Given the description of an element on the screen output the (x, y) to click on. 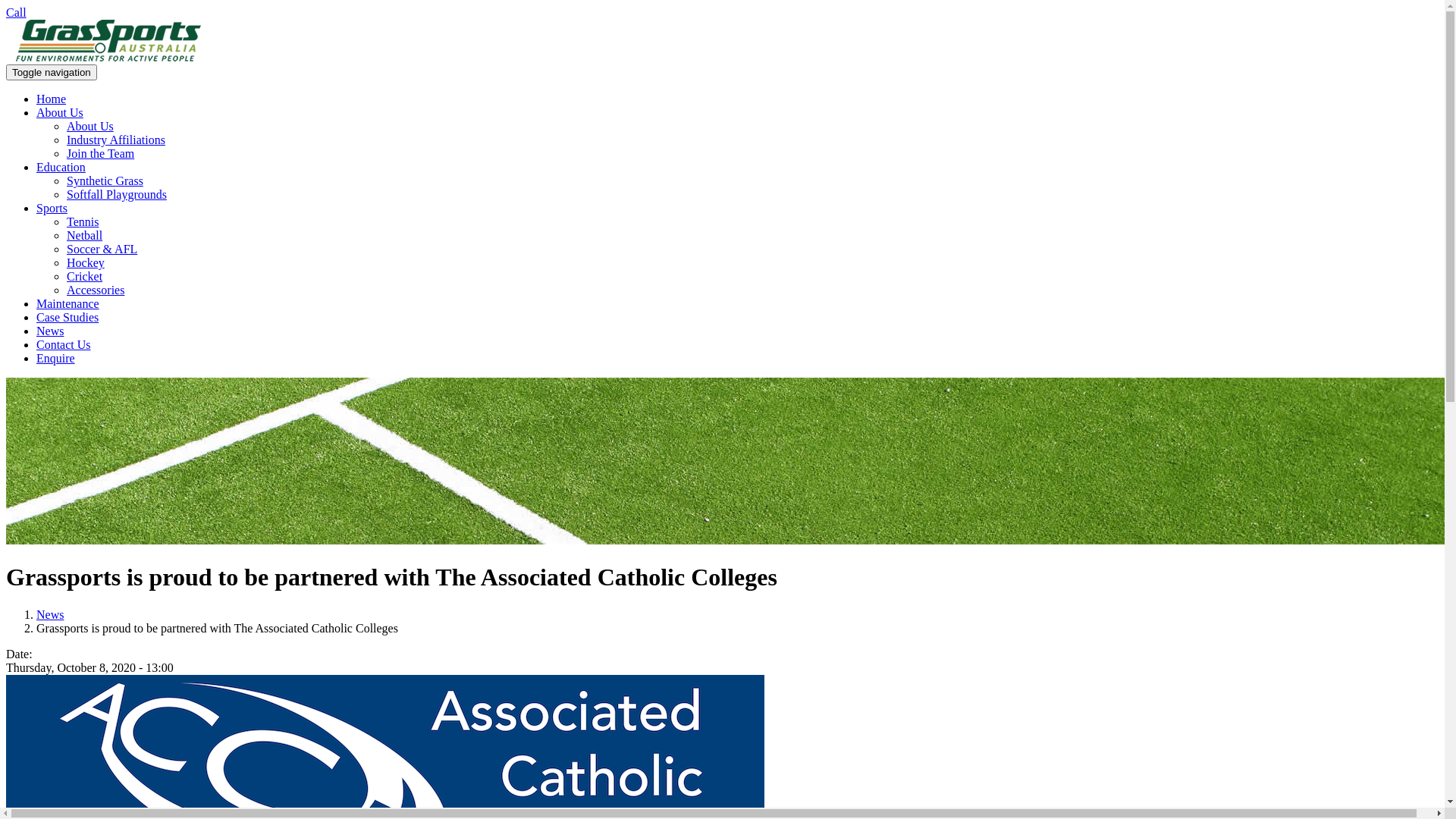
Accessories Element type: text (95, 289)
Call Element type: text (16, 12)
Cricket Element type: text (84, 275)
About Us Element type: text (59, 112)
Industry Affiliations Element type: text (115, 139)
Tennis Element type: text (82, 221)
Soccer & AFL Element type: text (101, 248)
Home Element type: text (50, 98)
Contact Us Element type: text (63, 344)
Hockey Element type: text (85, 262)
Case Studies Element type: text (67, 316)
Softfall Playgrounds Element type: text (116, 194)
Home Element type: hover (107, 56)
Skip to main content Element type: text (56, 6)
Sports Element type: text (51, 207)
Education Element type: text (60, 166)
Netball Element type: text (84, 235)
Maintenance Element type: text (67, 303)
Toggle navigation Element type: text (51, 72)
Synthetic Grass Element type: text (104, 180)
Join the Team Element type: text (100, 153)
News Element type: text (49, 614)
About Us Element type: text (89, 125)
News Element type: text (49, 330)
Enquire Element type: text (55, 357)
